Given the description of an element on the screen output the (x, y) to click on. 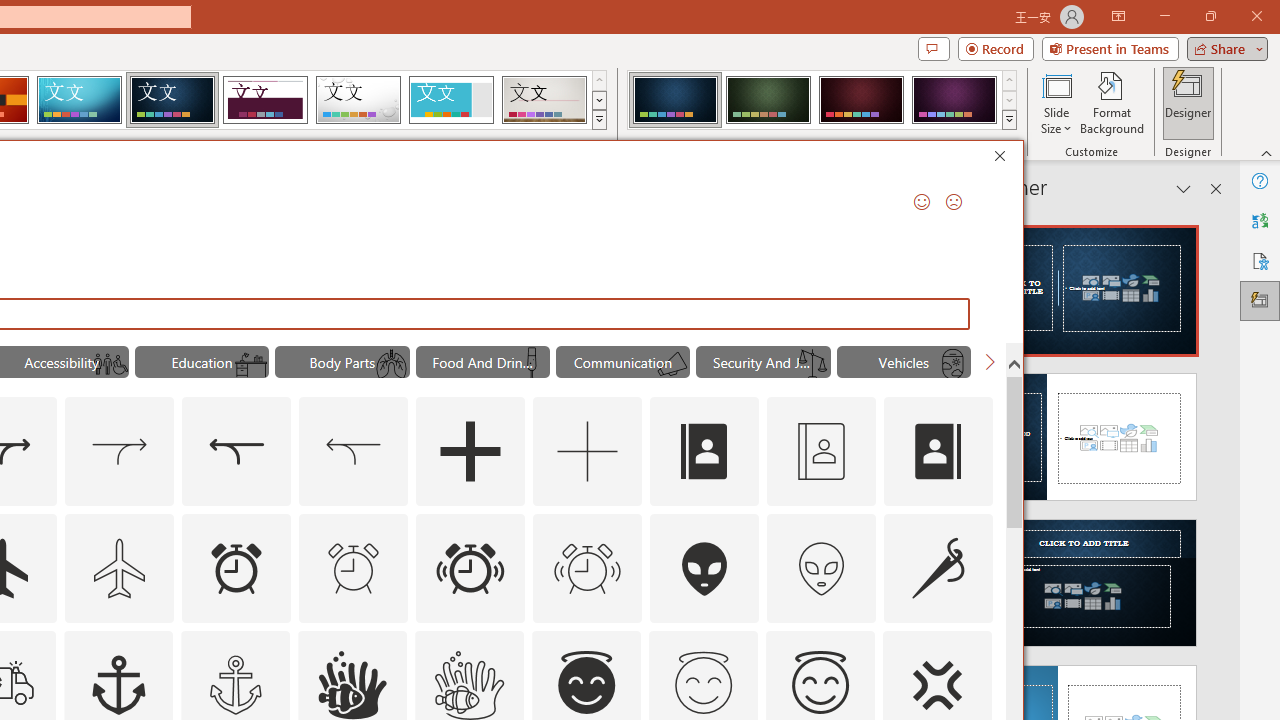
Thumbnail (977, 645)
AutomationID: Icons_AddressBook_LTR_M (821, 452)
AutomationID: Icons_AddressBook_RTL (938, 452)
Damask Variant 3 (861, 100)
Variants (1009, 120)
outline (820, 685)
AutomationID: ThemeVariantsGallery (822, 99)
Damask Variant 2 (768, 100)
"Body Parts" Icons. (342, 362)
